Given the description of an element on the screen output the (x, y) to click on. 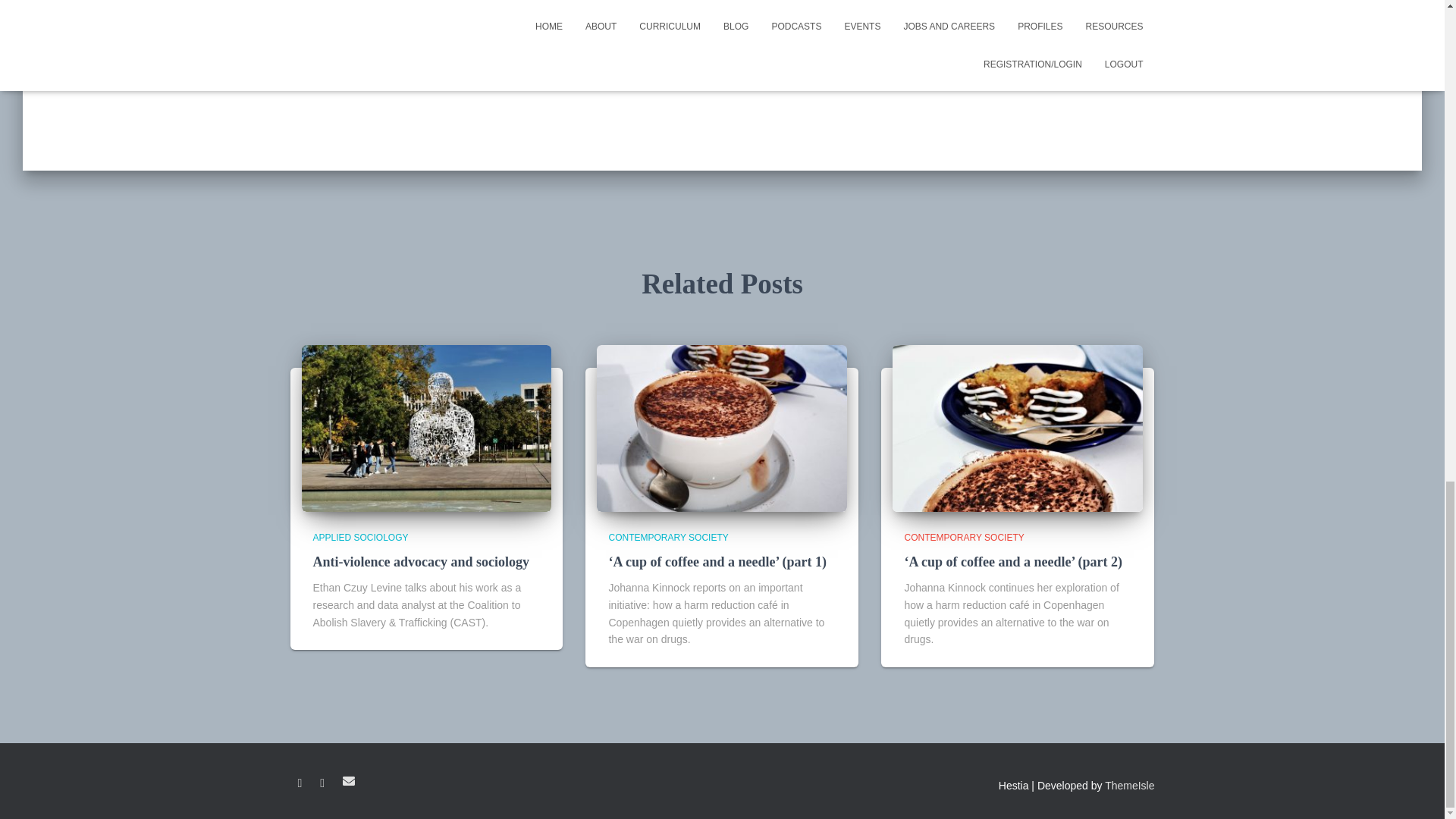
Anti-violence advocacy and sociology (426, 426)
EMAIL (348, 780)
Anti-violence advocacy and sociology (421, 561)
ThemeIsle (1129, 785)
Post Comment (944, 33)
CONTEMPORARY SOCIETY (668, 537)
APPLIED SOCIOLOGY (360, 537)
CONTEMPORARY SOCIETY (963, 537)
Post Comment (944, 33)
